Given the description of an element on the screen output the (x, y) to click on. 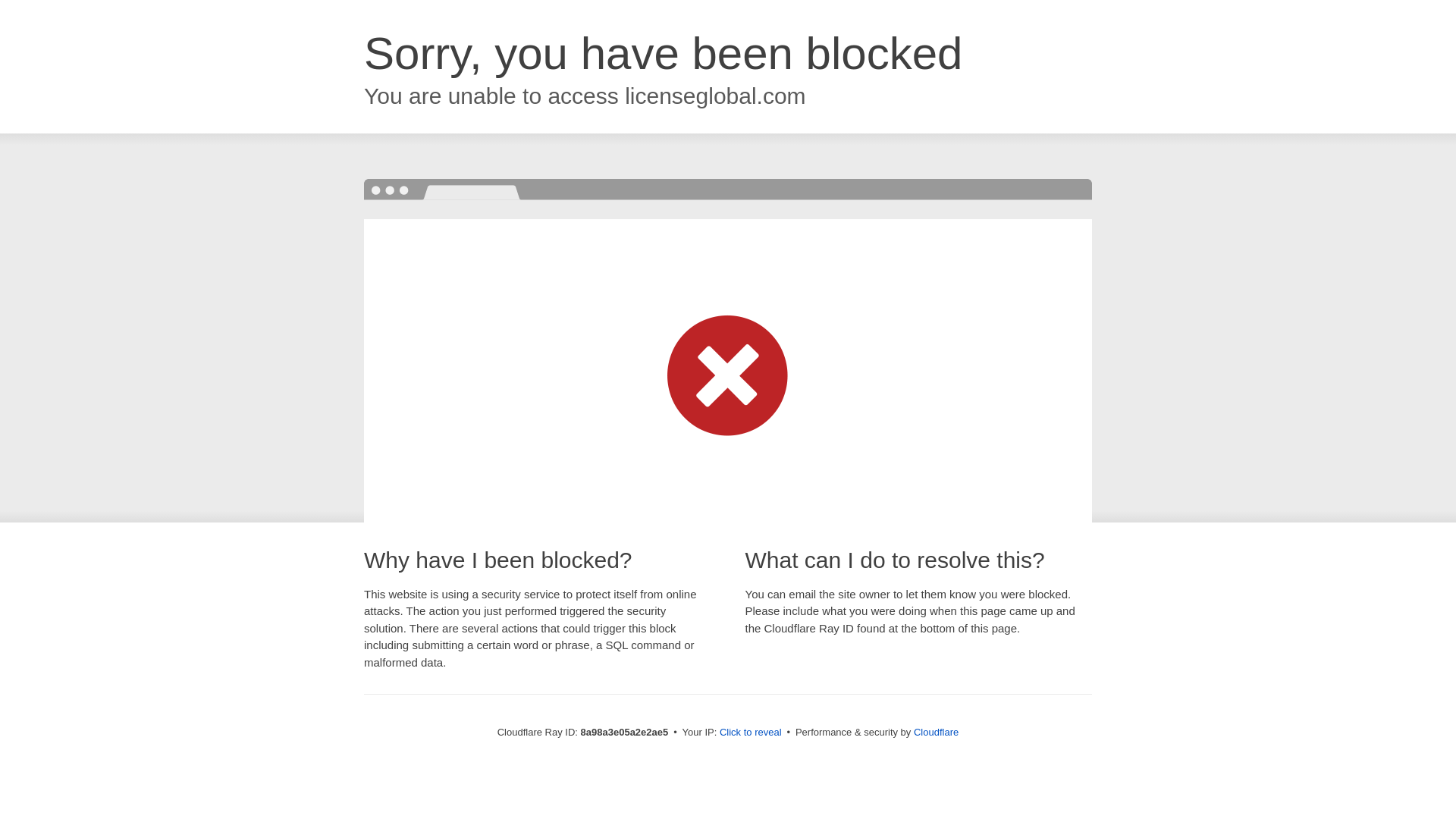
Click to reveal (750, 732)
Cloudflare (936, 731)
